Given the description of an element on the screen output the (x, y) to click on. 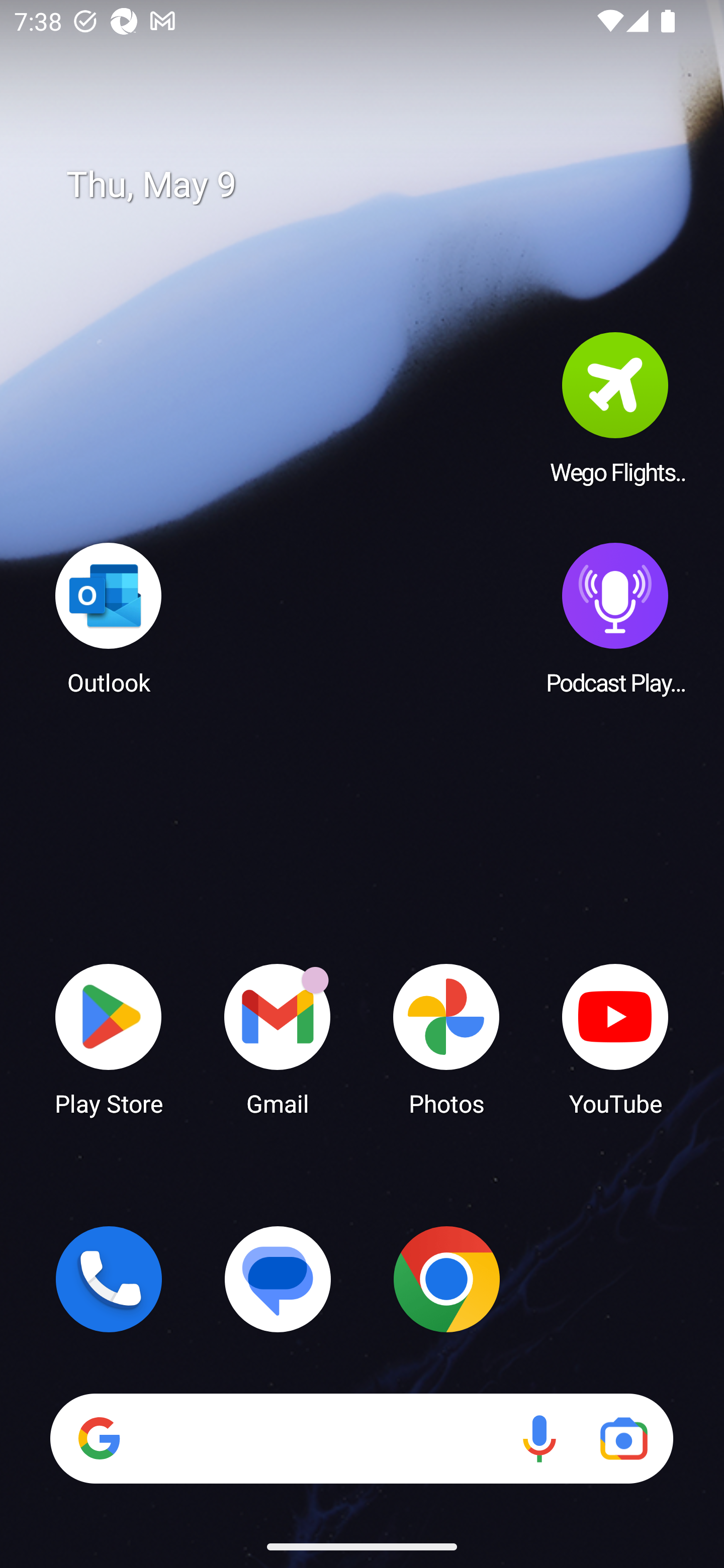
Thu, May 9 (375, 184)
Wego Flights & Hotels (615, 407)
Outlook (108, 617)
Podcast Player (615, 617)
Play Store (108, 1038)
Gmail Gmail has 18 notifications (277, 1038)
Photos (445, 1038)
YouTube (615, 1038)
Phone (108, 1279)
Messages (277, 1279)
Chrome (446, 1279)
Search Voice search Google Lens (361, 1438)
Voice search (539, 1438)
Google Lens (623, 1438)
